Given the description of an element on the screen output the (x, y) to click on. 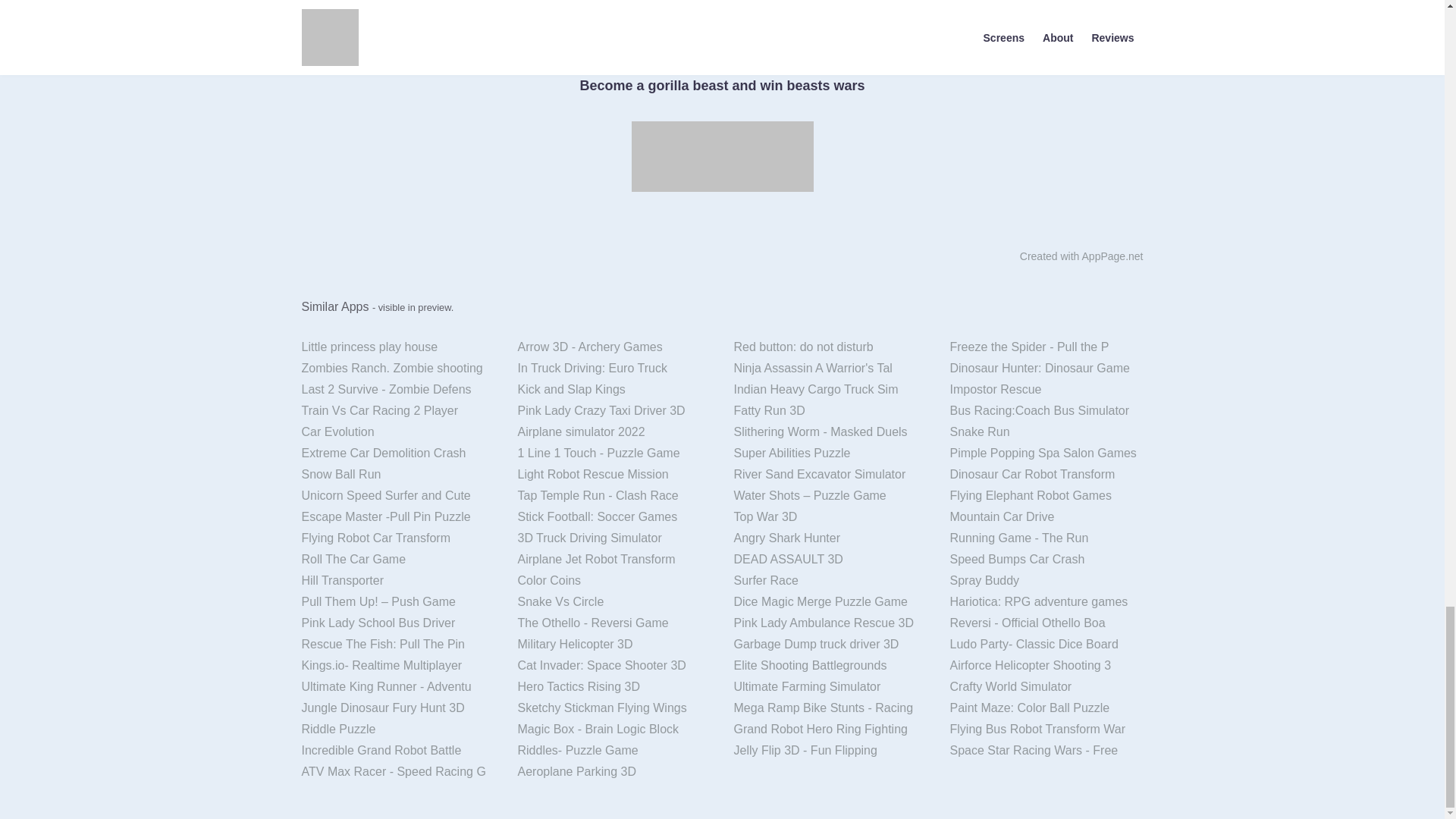
Little princess play house (397, 346)
Ninja Assassin A Warrior's Tal (829, 368)
In Truck Driving: Euro Truck (614, 368)
1 Line 1 Touch - Puzzle Game (614, 453)
Red button: do not disturb (829, 346)
Indian Heavy Cargo Truck Sim (829, 389)
Car Evolution (397, 432)
Slithering Worm - Masked Duels (829, 432)
Kick and Slap Kings (614, 389)
Impostor Rescue (1046, 389)
Dinosaur Hunter: Dinosaur Game (1046, 368)
Pink Lady Crazy Taxi Driver 3D (614, 410)
Last 2 Survive - Zombie Defens (397, 389)
Arrow 3D - Archery Games (614, 346)
Train Vs Car Racing 2 Player (397, 410)
